Given the description of an element on the screen output the (x, y) to click on. 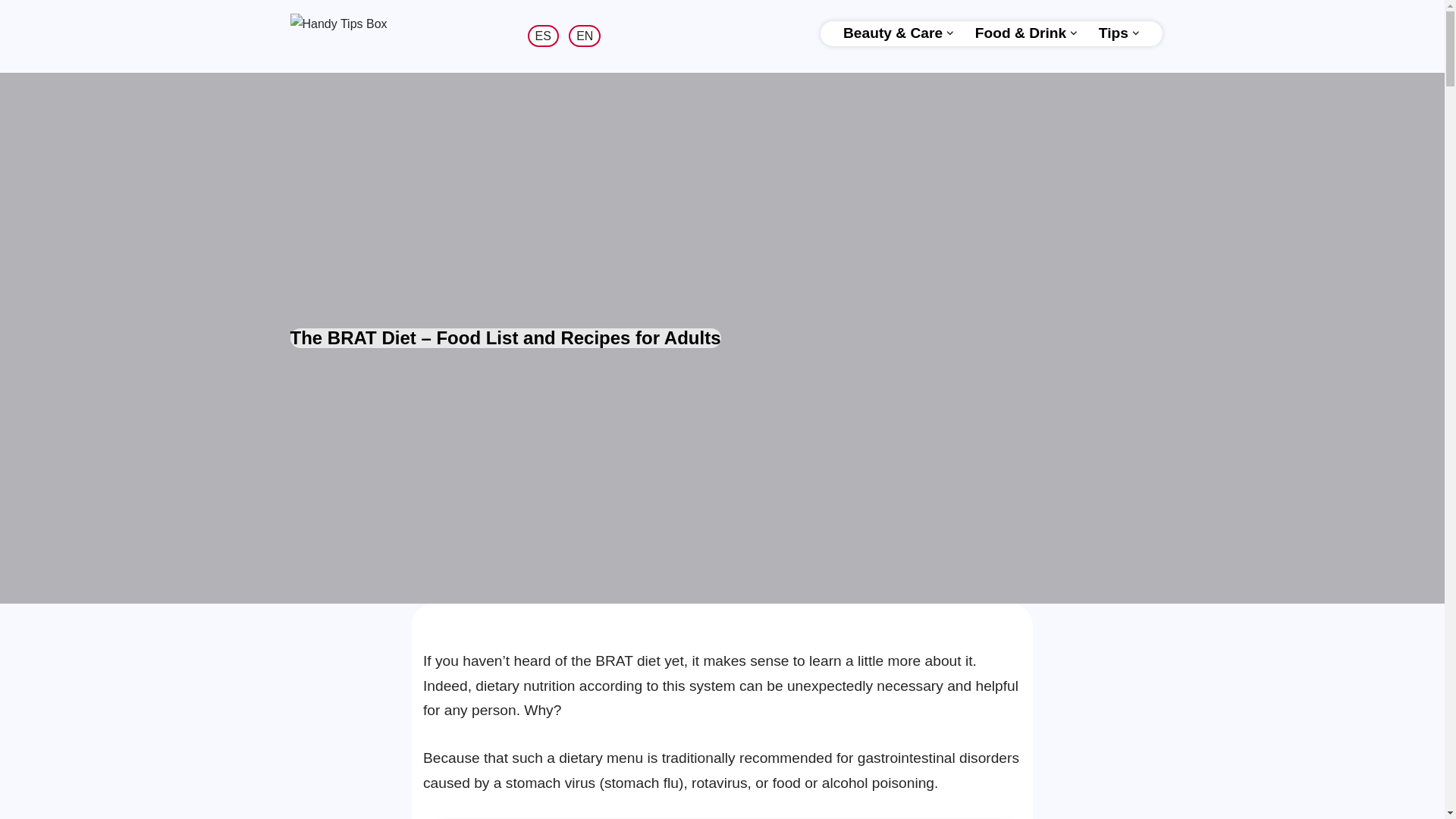
EN (584, 35)
ES (543, 35)
Skip to content (11, 31)
Tips (1113, 33)
